Given the description of an element on the screen output the (x, y) to click on. 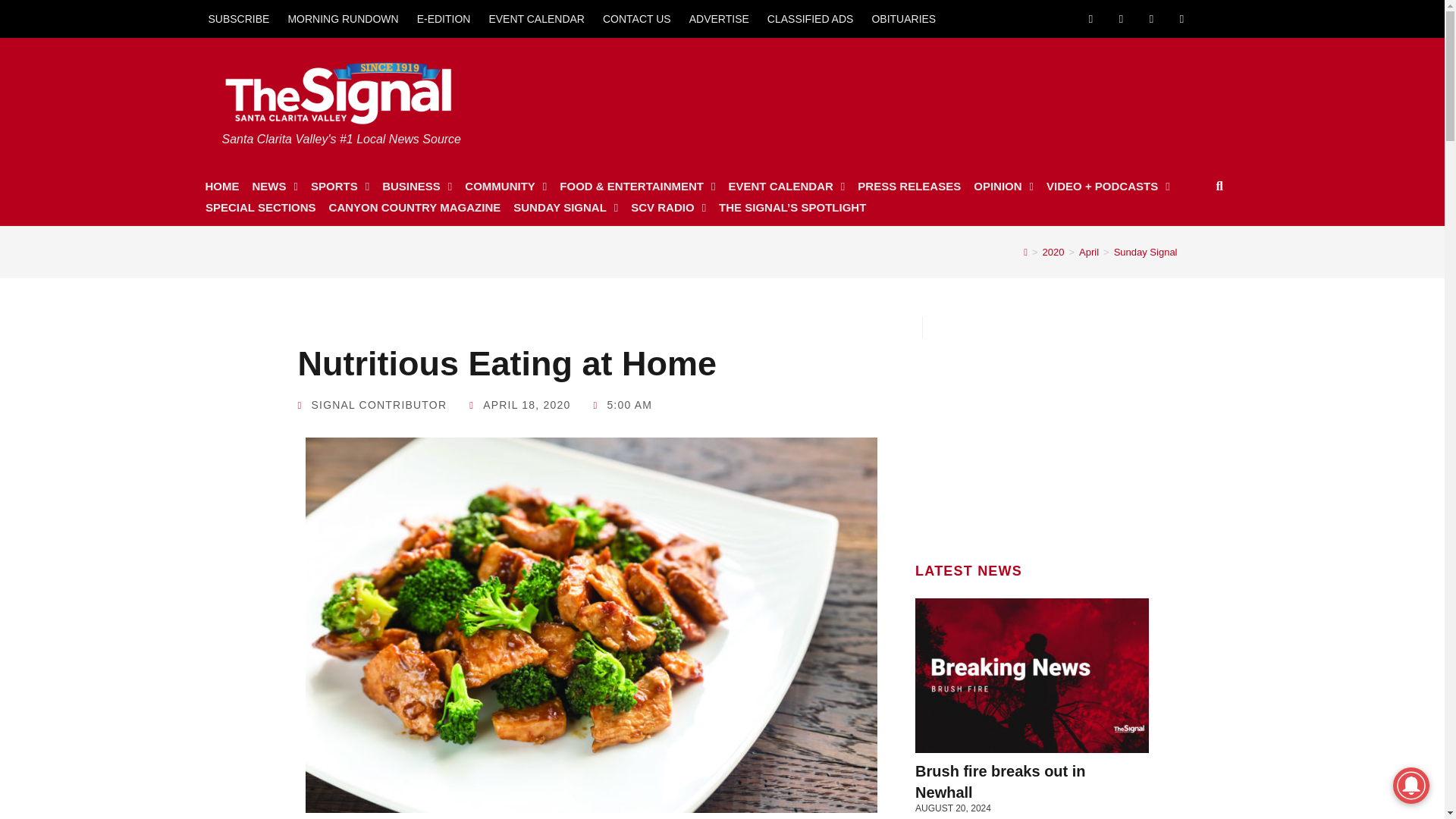
CONTACT US (636, 18)
3rd party ad content (1031, 433)
EVENT CALENDAR (536, 18)
E-EDITION (443, 18)
3rd party ad content (932, 94)
SUBSCRIBE (238, 18)
MORNING RUNDOWN (342, 18)
NEWS (274, 186)
HOME (221, 186)
CLASSIFIED ADS (810, 18)
